Given the description of an element on the screen output the (x, y) to click on. 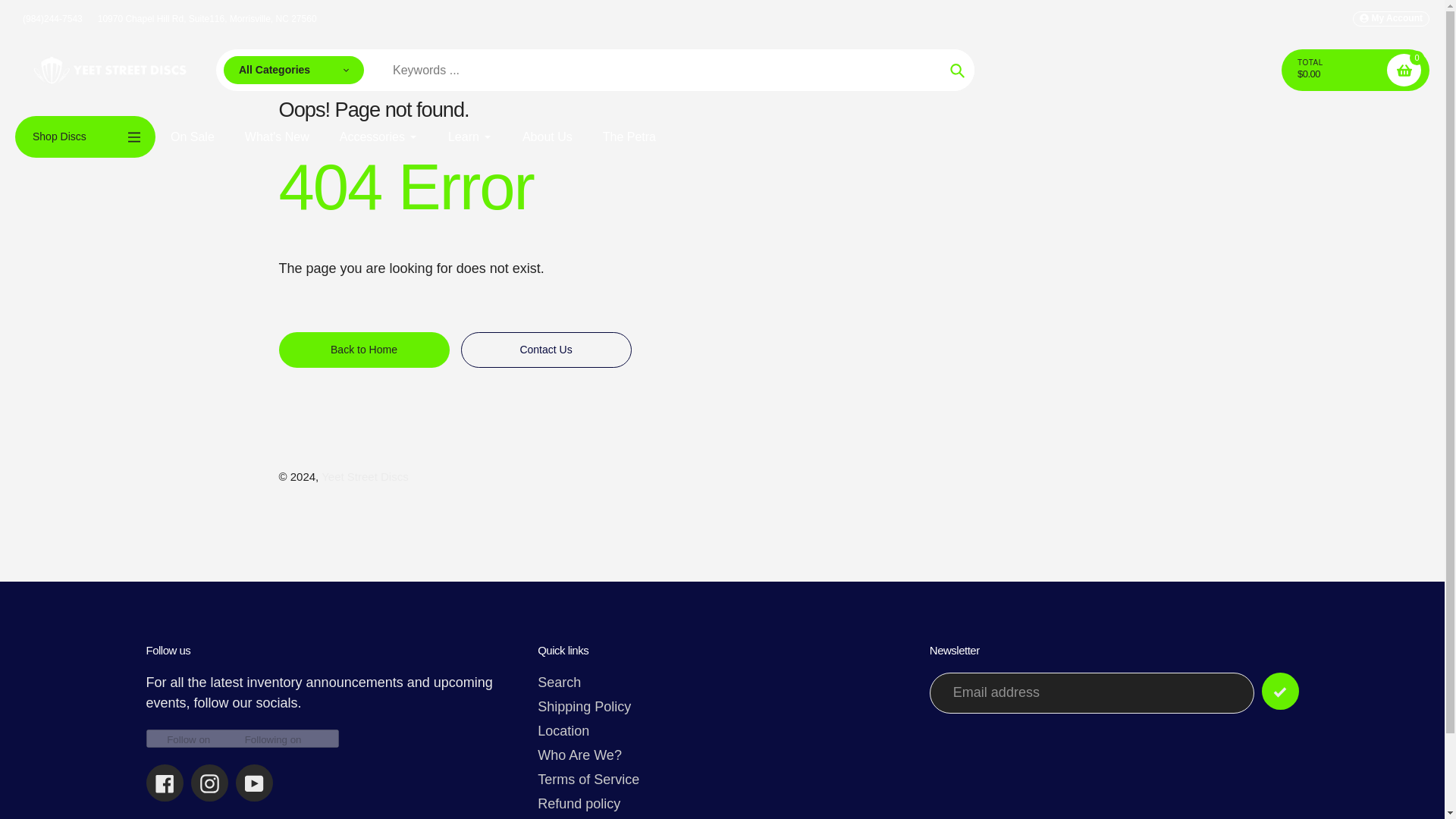
My Account (1390, 18)
All Categories (294, 70)
10970 Chapel Hill Rd, Suite116, Morrisville, NC 27560 (207, 18)
